Given the description of an element on the screen output the (x, y) to click on. 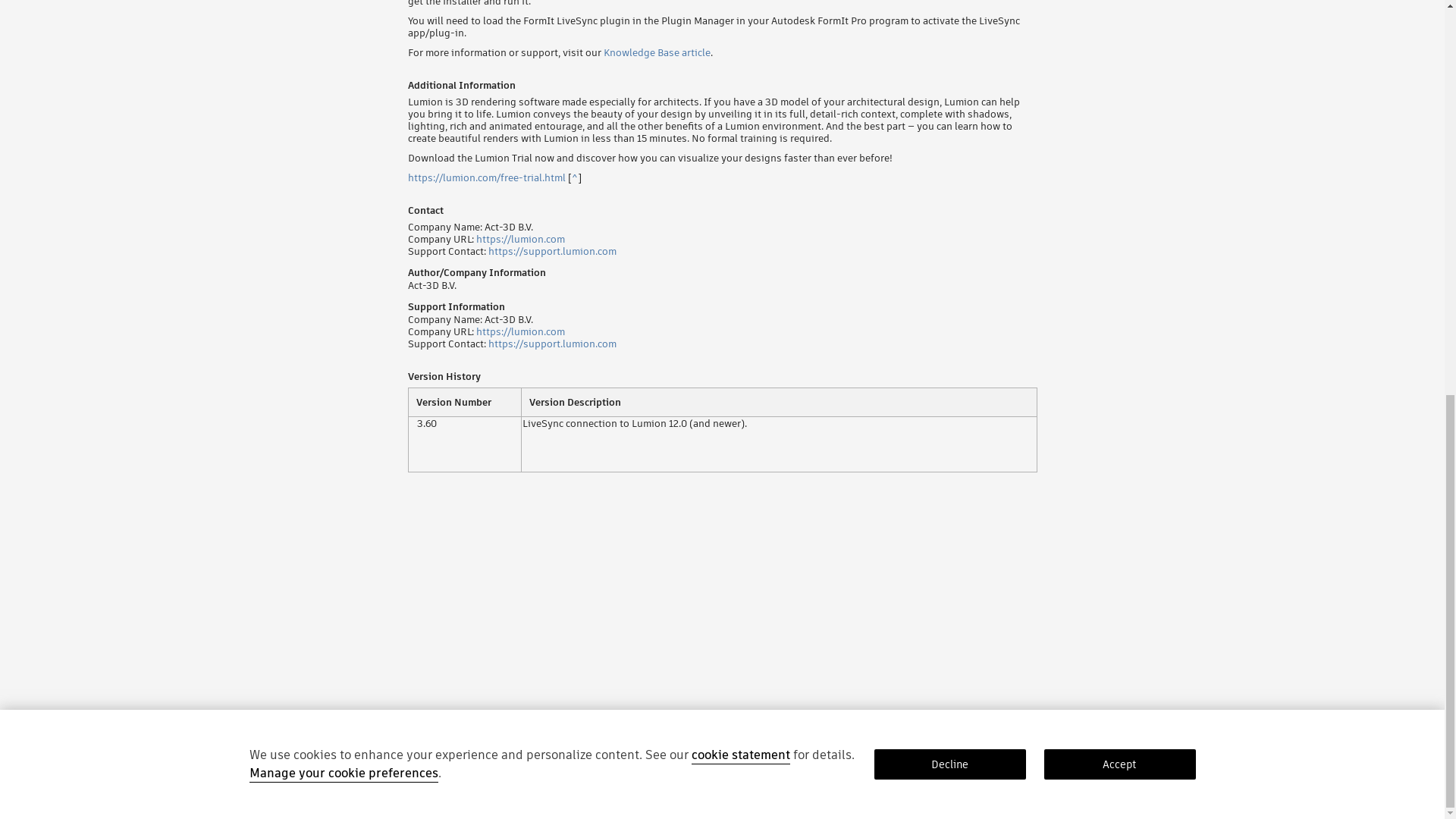
Terms of Use (463, 805)
Contact Us (584, 805)
Privacy Policy (277, 805)
FAQ (543, 805)
Knowledge Base article (657, 52)
Privacy Settings (649, 805)
